Given the description of an element on the screen output the (x, y) to click on. 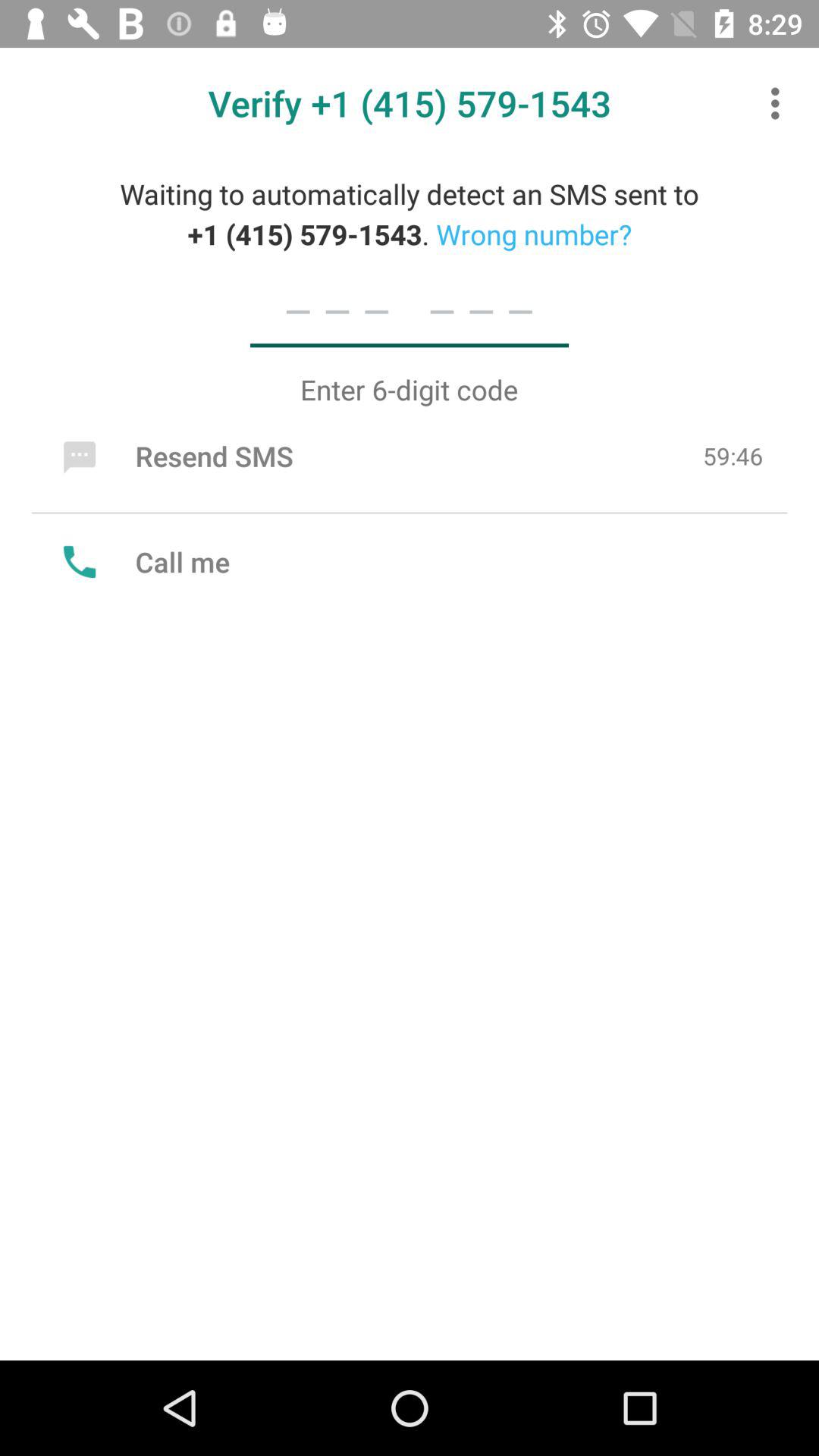
select the icon to the right of the verify 1 415 icon (779, 103)
